Given the description of an element on the screen output the (x, y) to click on. 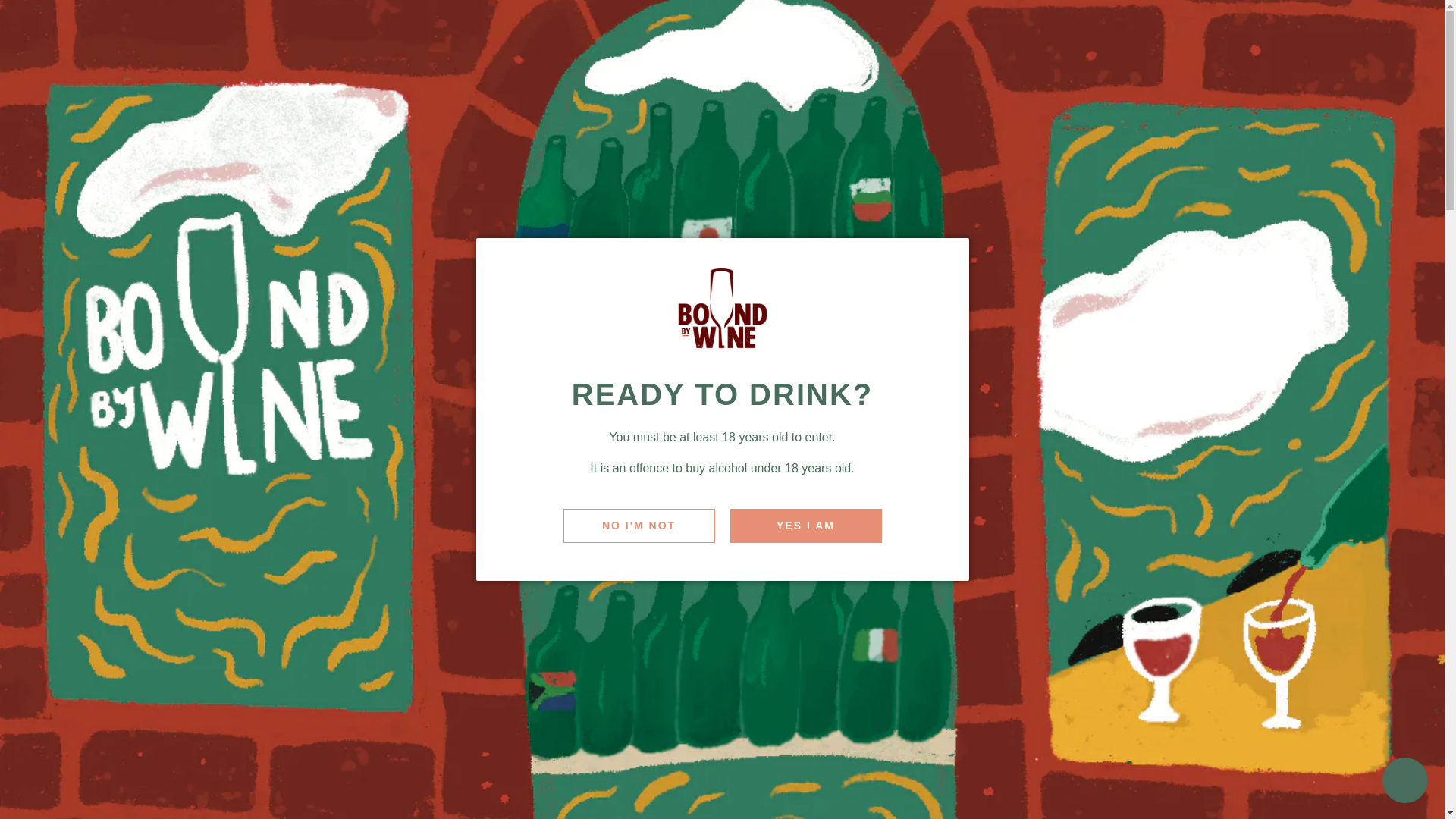
1 (843, 491)
Log in (1322, 92)
TWITTER ICON (1372, 27)
FACEBOOK ICON (1348, 27)
YOUTUBE ICON (1420, 27)
YOUTUBE ICON (1420, 27)
Search (1277, 92)
TWITTER ICON (1372, 27)
Shopify online store chat (1404, 781)
FACEBOOK ICON (1348, 27)
